Given the description of an element on the screen output the (x, y) to click on. 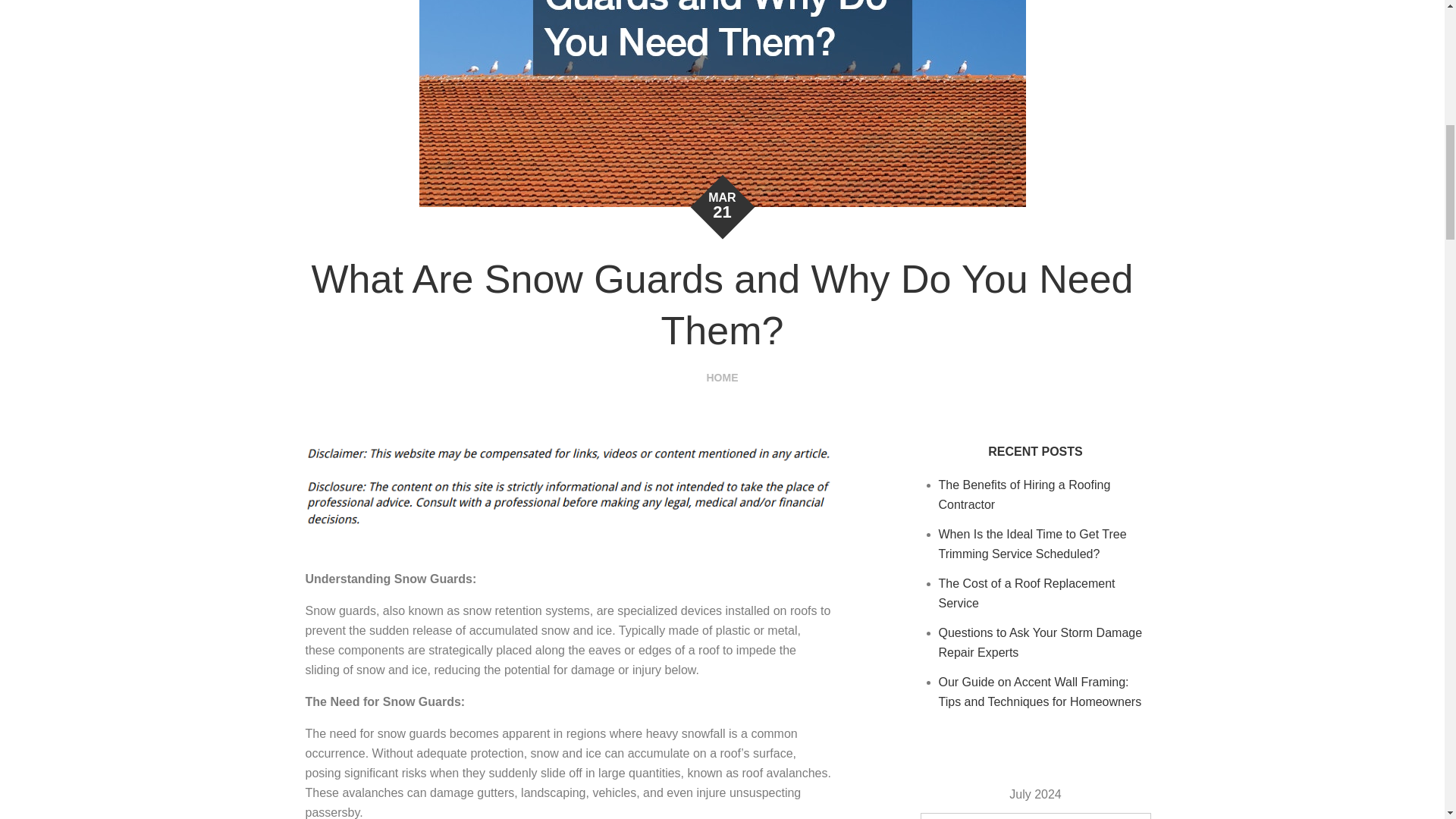
Tuesday (970, 816)
Sunday (1133, 816)
Thursday (1035, 816)
The Cost of a Roof Replacement Service (1027, 593)
HOME (722, 377)
Wednesday (1003, 816)
Saturday (1100, 816)
Questions to Ask Your Storm Damage Repair Experts (1040, 642)
Monday (936, 816)
Friday (1067, 816)
The Benefits of Hiring a Roofing Contractor (1024, 494)
